Given the description of an element on the screen output the (x, y) to click on. 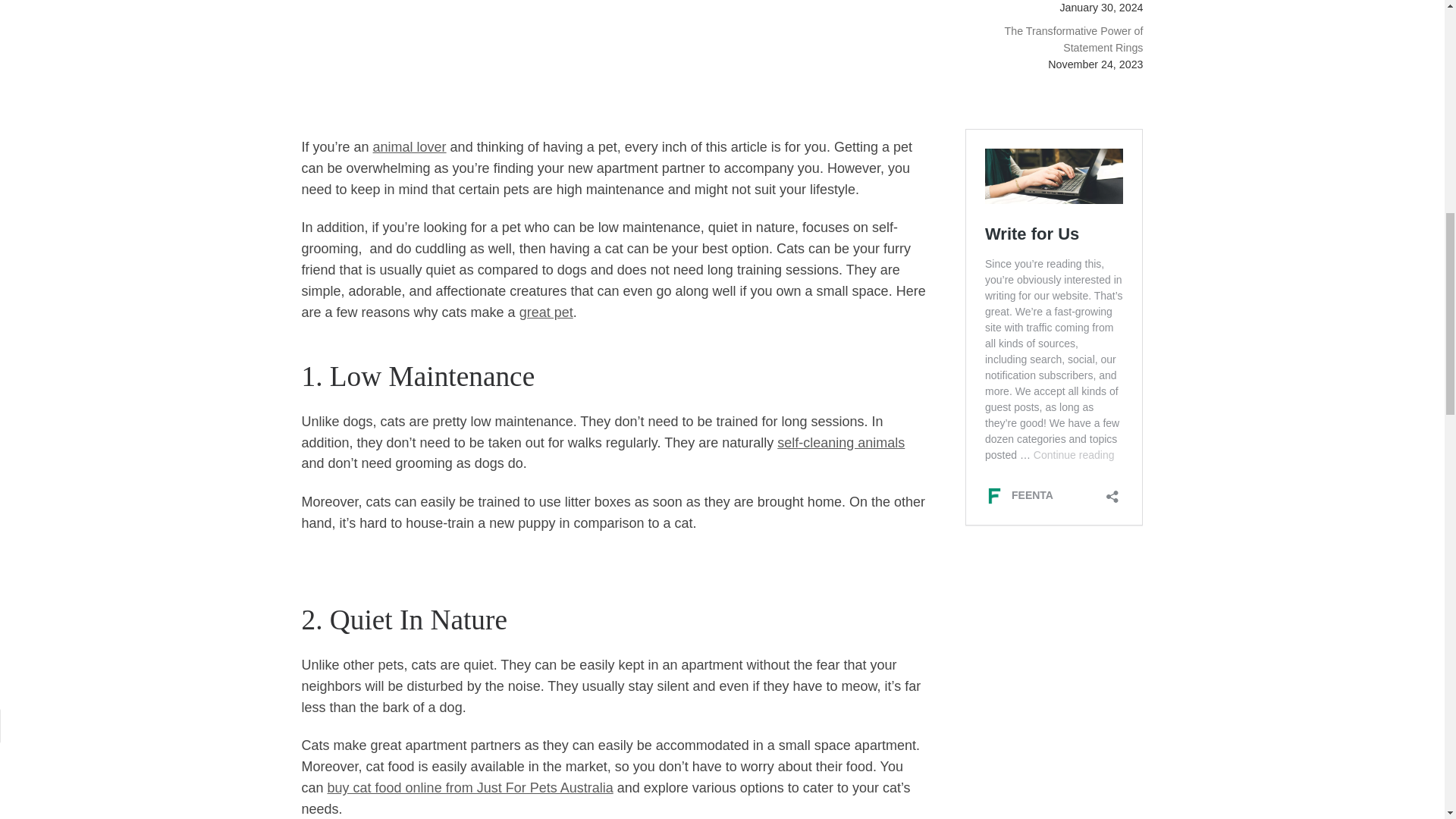
great pet (546, 312)
animal lover (409, 146)
self-cleaning animals (840, 442)
Advertisement (415, 56)
buy cat food online from Just For Pets Australia (469, 787)
